Given the description of an element on the screen output the (x, y) to click on. 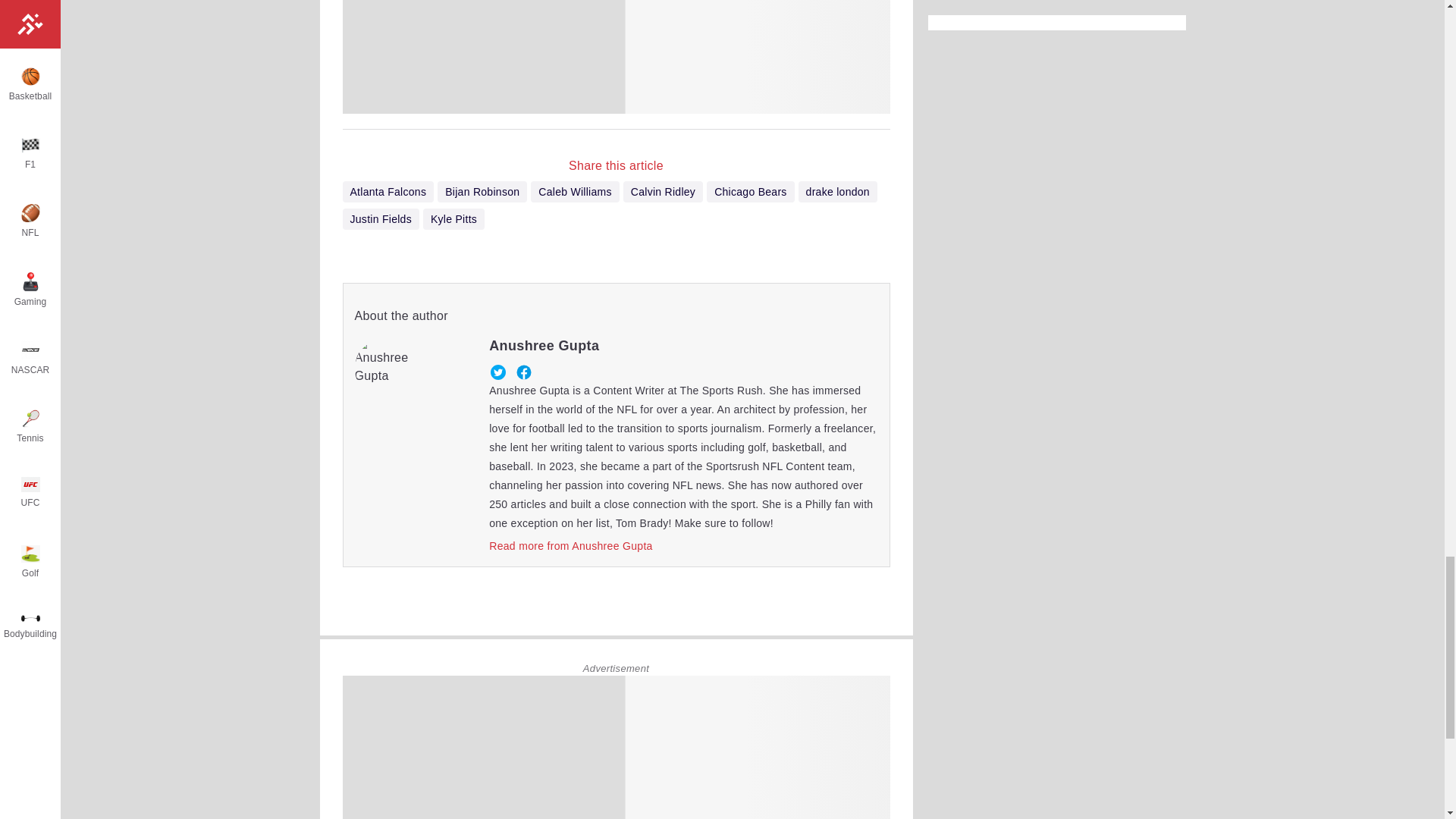
Chicago Bears (749, 191)
Facebook (523, 372)
Calvin Ridley (663, 191)
drake london (837, 191)
Justin Fields (380, 219)
Caleb Williams (575, 191)
Twitter (497, 372)
Kyle Pitts (453, 219)
Atlanta Falcons (387, 191)
Bijan Robinson (482, 191)
